Given the description of an element on the screen output the (x, y) to click on. 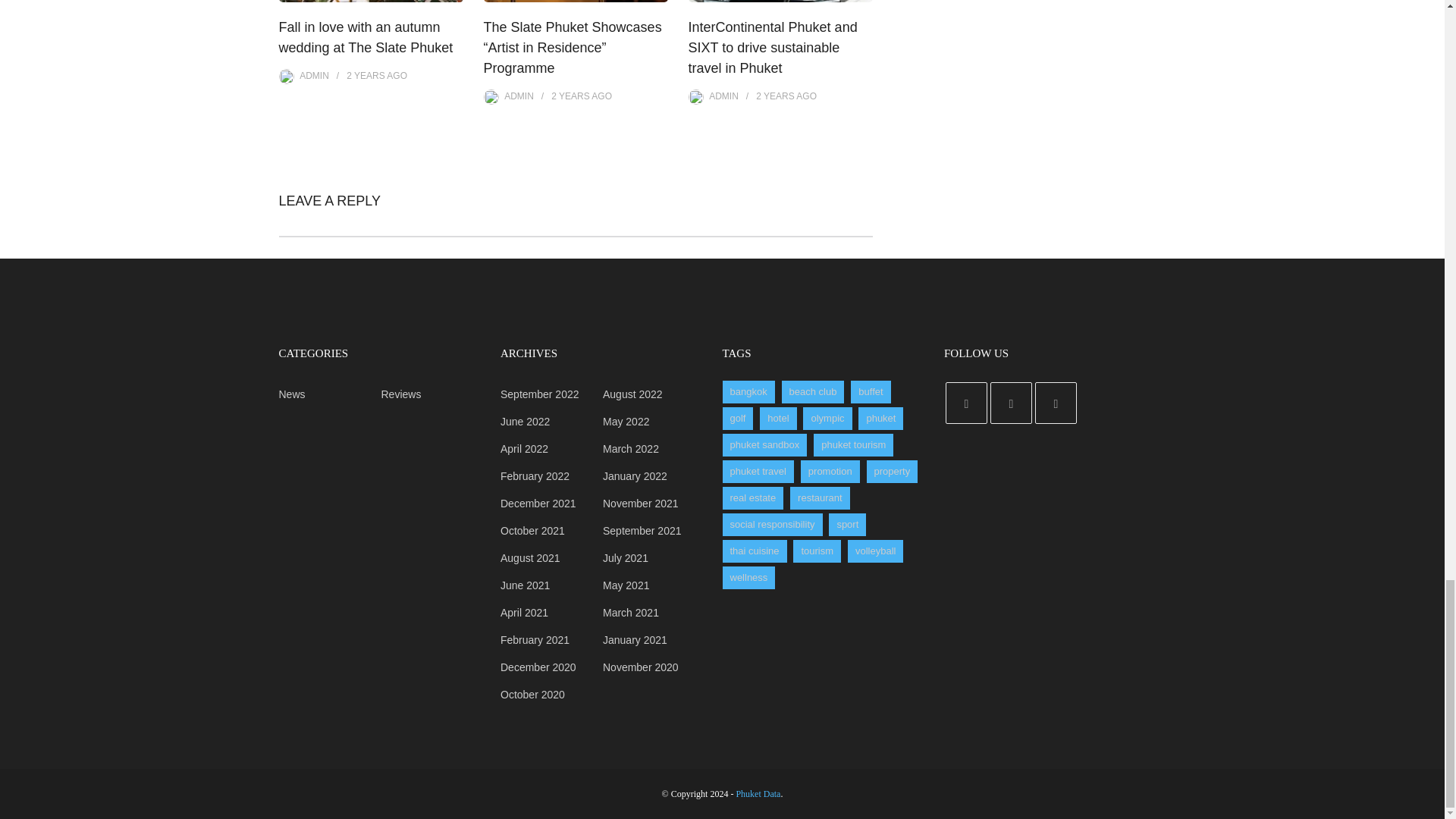
Fall in love with an autumn wedding at The Slate Phuket (365, 37)
2 YEARS (774, 95)
ADMIN (314, 75)
ADMIN (518, 95)
2 YEARS (365, 75)
ADMIN (723, 95)
2 YEARS (570, 95)
